Given the description of an element on the screen output the (x, y) to click on. 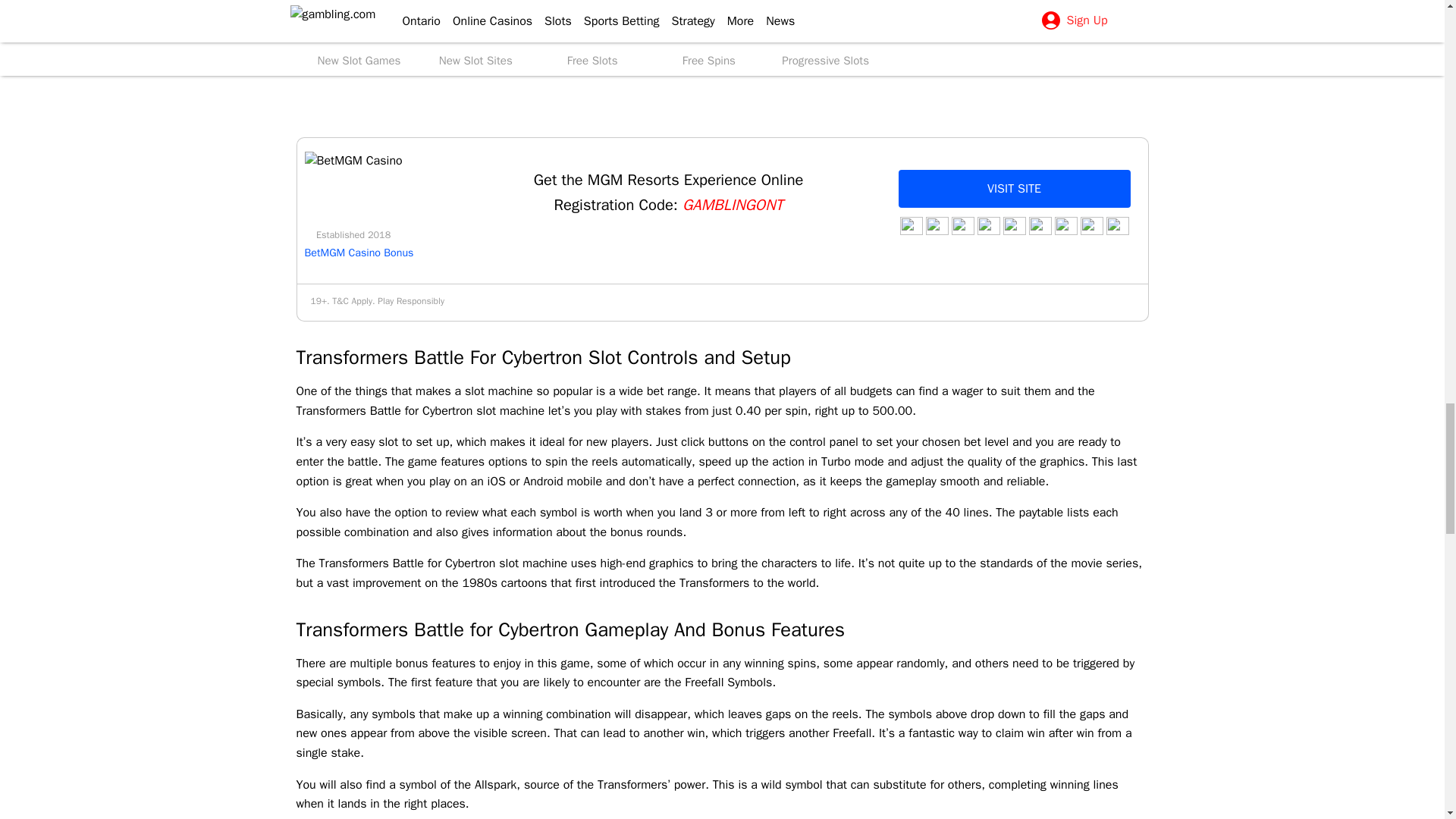
ACH Transfer (1065, 226)
MasterCard (987, 226)
ACH Transfer (1039, 226)
Bank Transfer (935, 226)
BetMGM Casino (353, 161)
Discover (910, 226)
VISA (1091, 226)
MasterCard (1116, 226)
VISA (1014, 226)
